Given the description of an element on the screen output the (x, y) to click on. 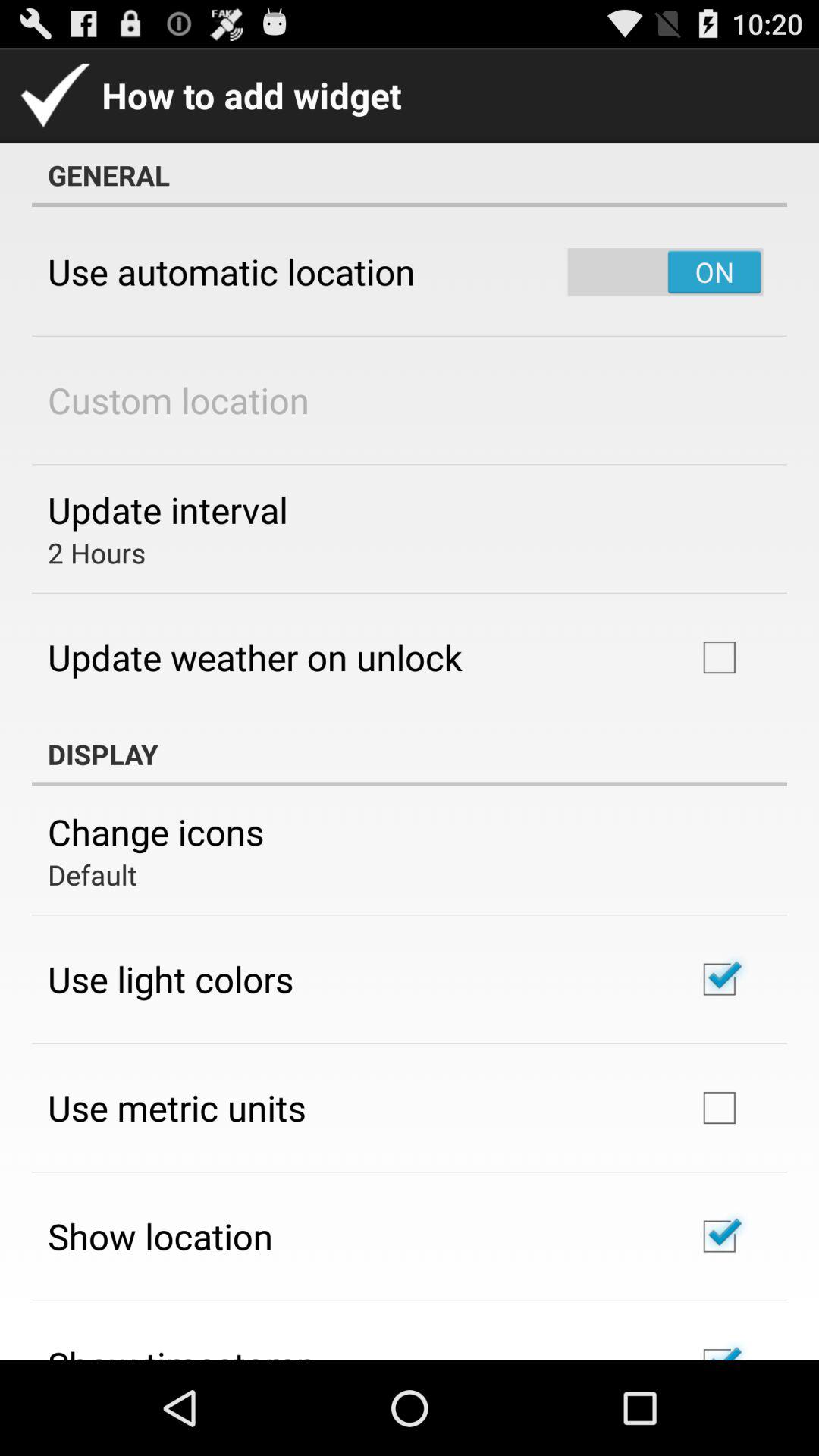
choose item at the top right corner (665, 271)
